Given the description of an element on the screen output the (x, y) to click on. 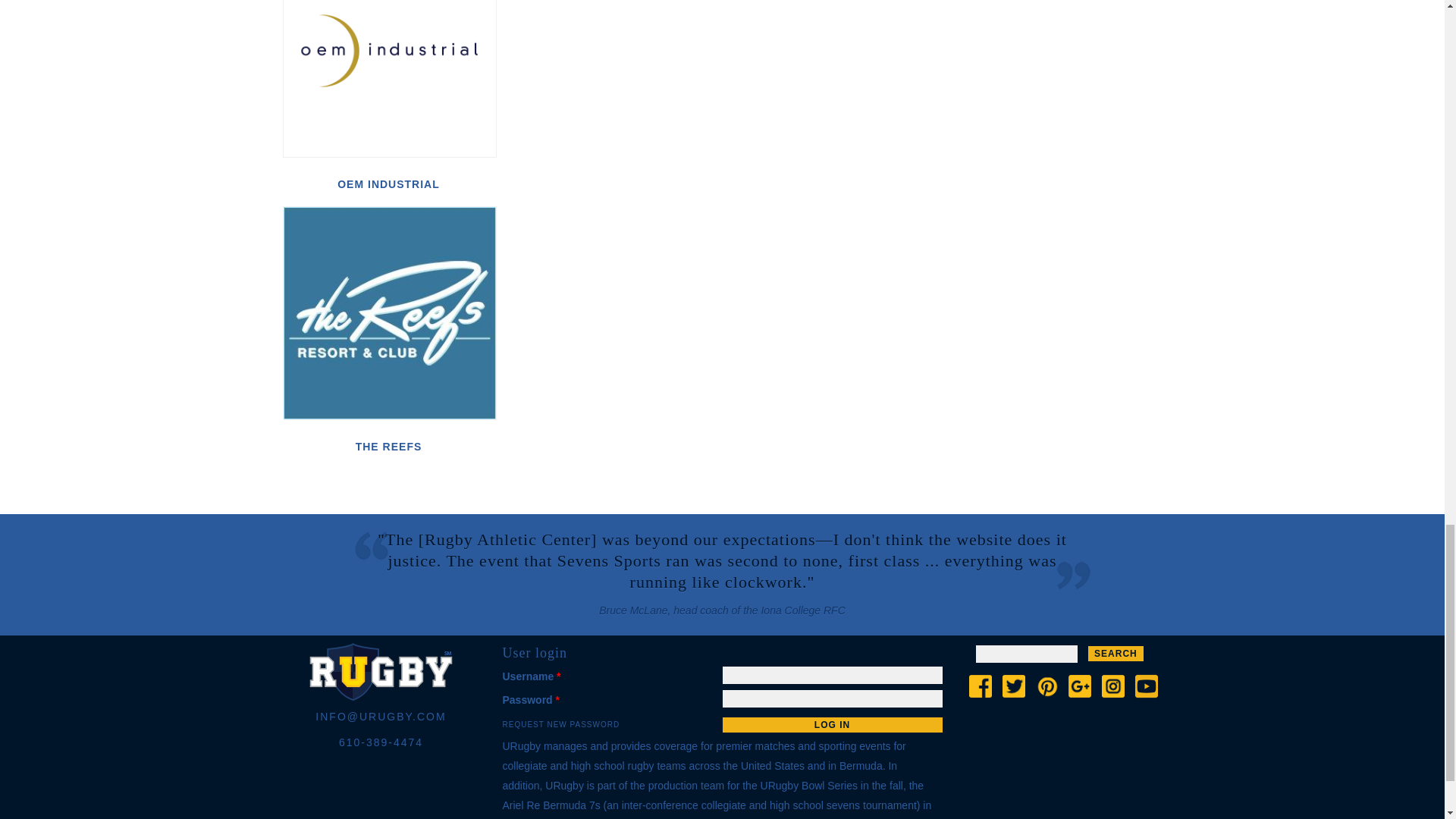
OEM Industrial supports rugby (389, 79)
Log in (832, 724)
Search (1114, 653)
Request new password via e-mail. (561, 724)
REQUEST NEW PASSWORD (561, 724)
THE REEFS (388, 446)
The Reefs Bermuda (389, 313)
OEM INDUSTRIAL (388, 183)
